Given the description of an element on the screen output the (x, y) to click on. 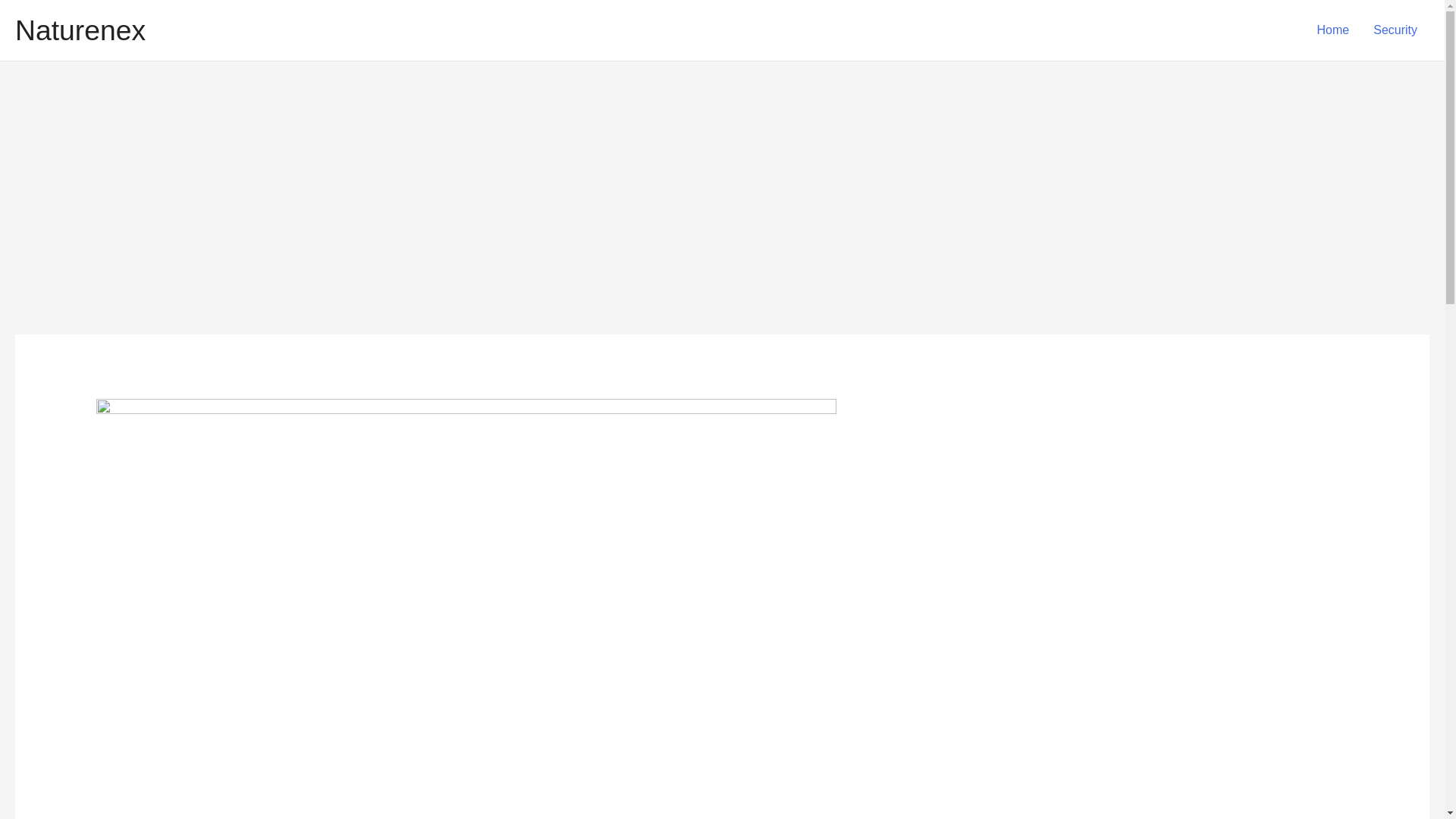
Home (1332, 30)
Naturenex (79, 29)
Security (1395, 30)
